Given the description of an element on the screen output the (x, y) to click on. 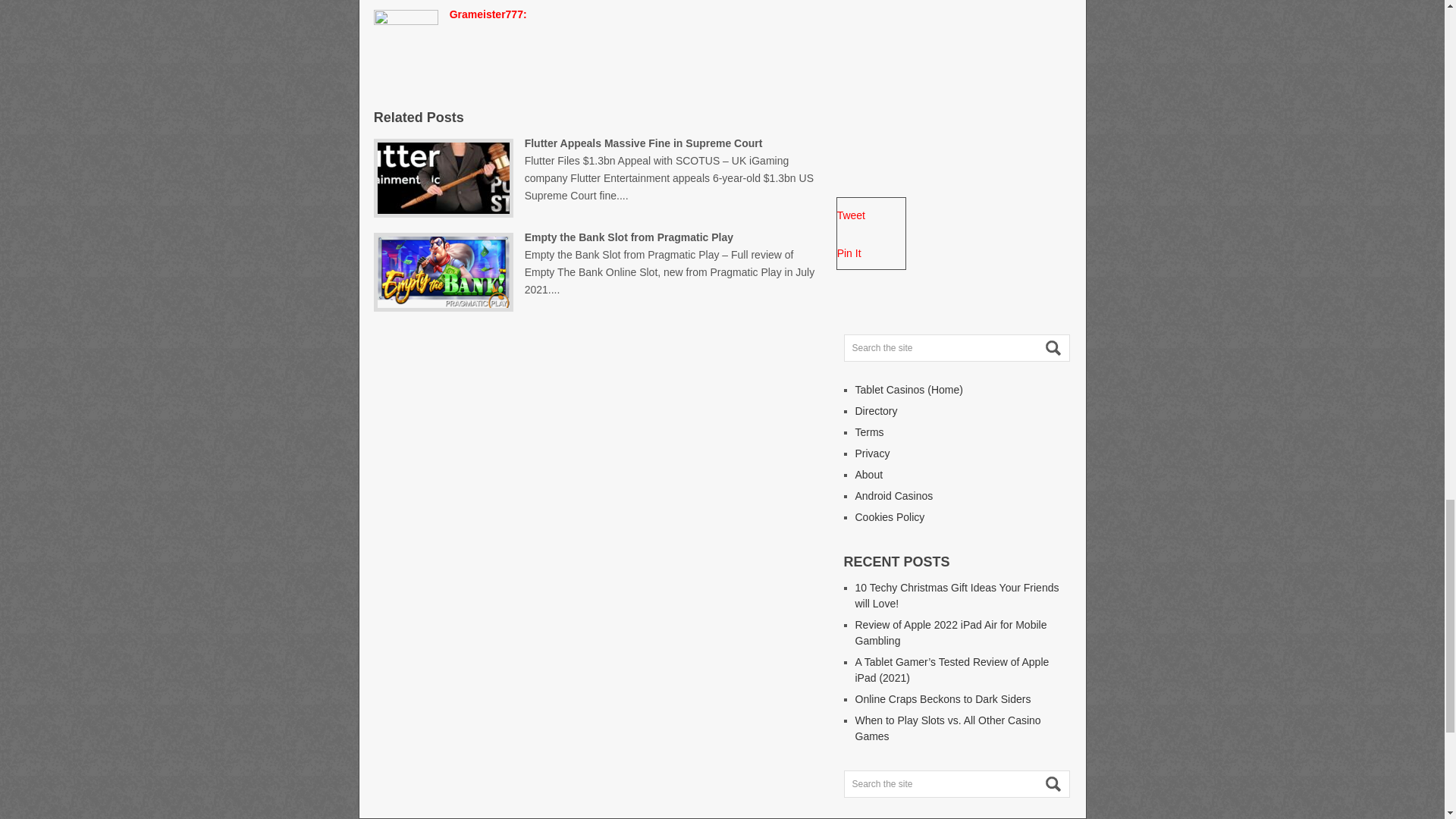
Search the site (956, 347)
Privacy (872, 453)
Search the site (956, 783)
Online Craps Beckons to Dark Siders (943, 698)
10 Techy Christmas Gift Ideas Your Friends will Love! (957, 595)
When to Play Slots vs. All Other Casino Games (948, 728)
Empty the Bank Slot from Pragmatic Play (669, 262)
Flutter Appeals Massive Fine in Supreme Court (668, 169)
Directory (877, 410)
Terms (869, 431)
Review of Apple 2022 iPad Air for Mobile Gambling (951, 633)
Android Casinos (894, 495)
Cookies Policy (890, 517)
About (869, 474)
